Given the description of an element on the screen output the (x, y) to click on. 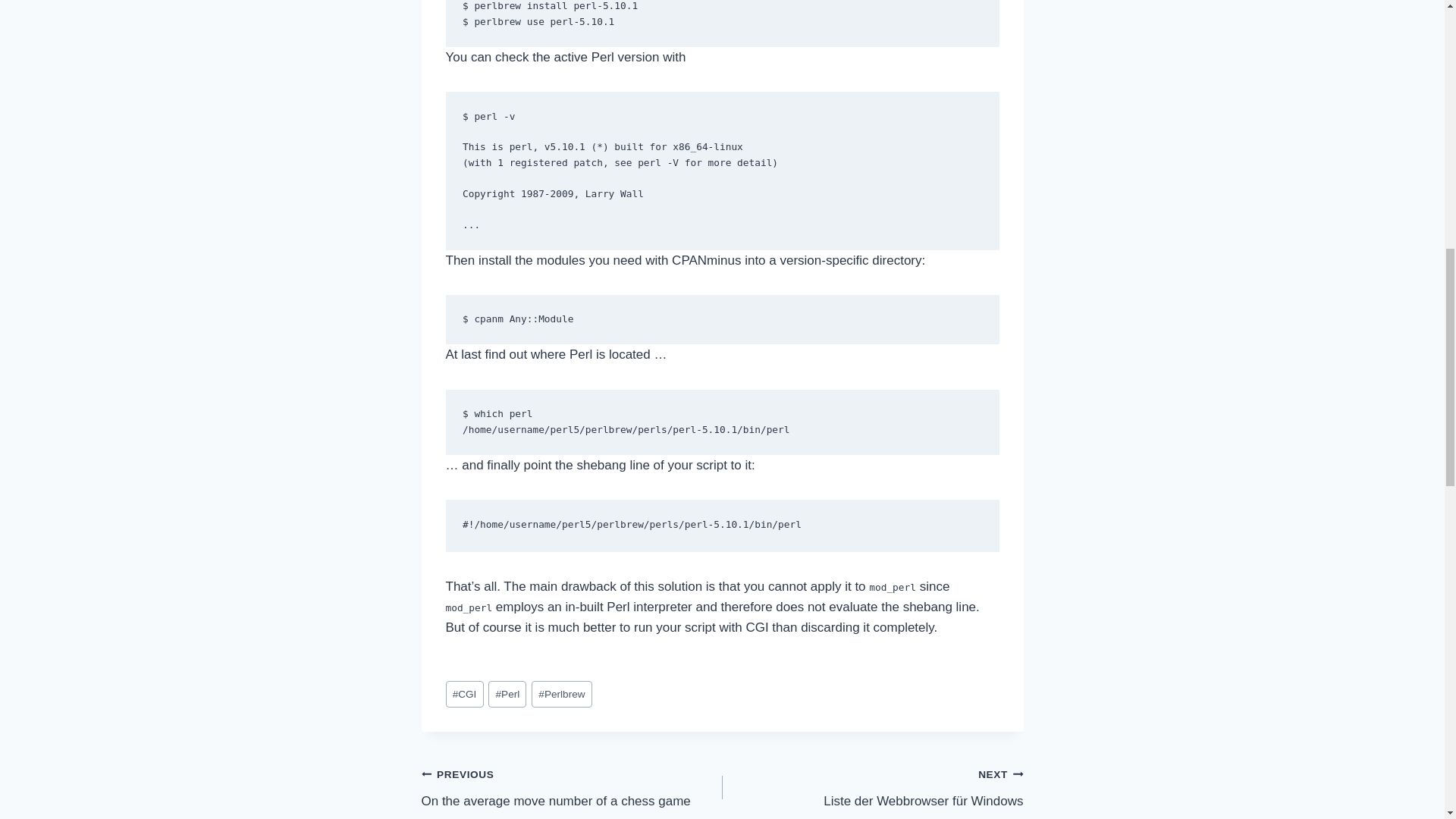
Perl (506, 693)
Perlbrew (561, 693)
CGI (464, 693)
